Given the description of an element on the screen output the (x, y) to click on. 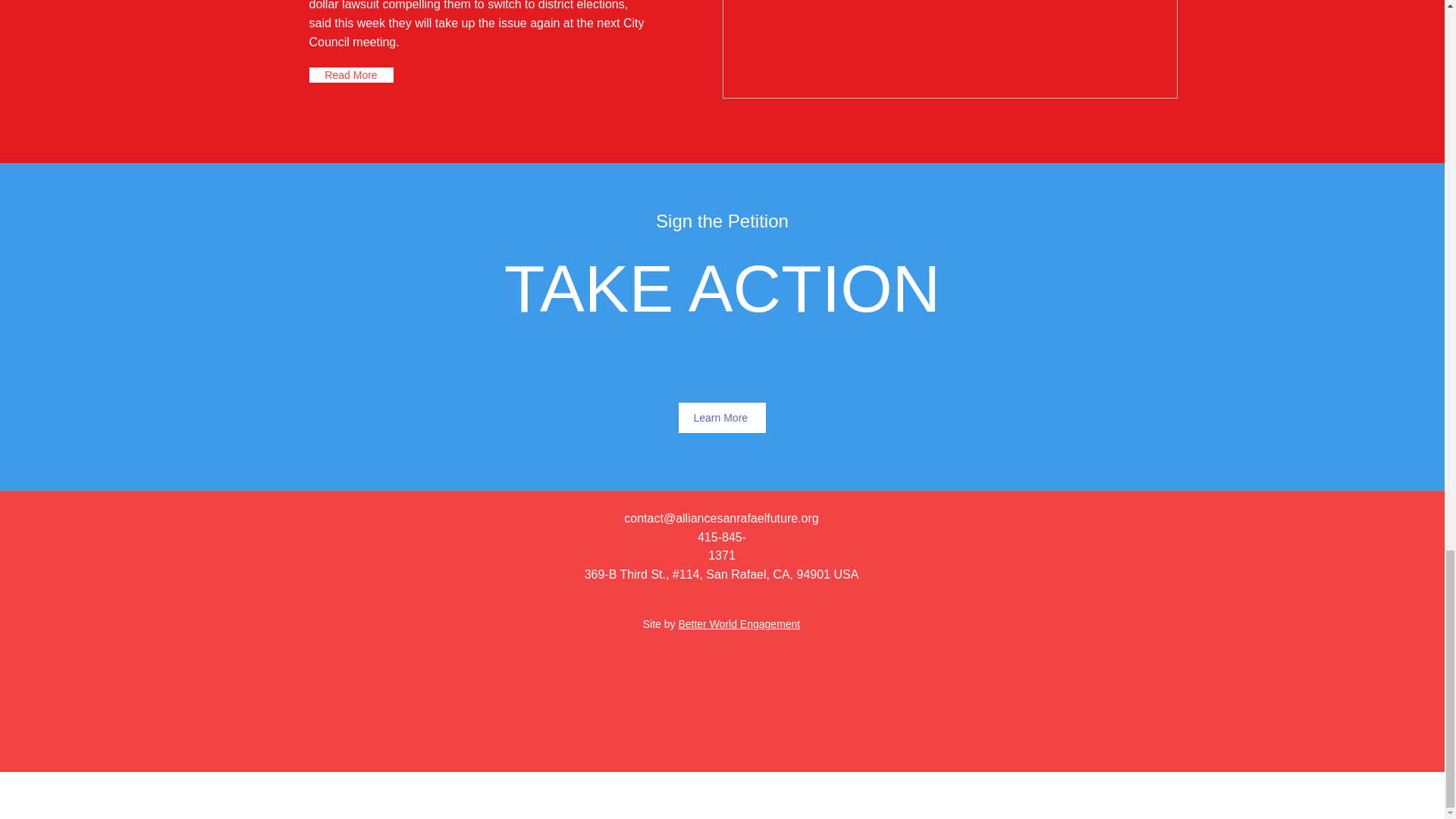
Read More (350, 74)
Better World Engagement (738, 623)
Learn More (721, 417)
